Given the description of an element on the screen output the (x, y) to click on. 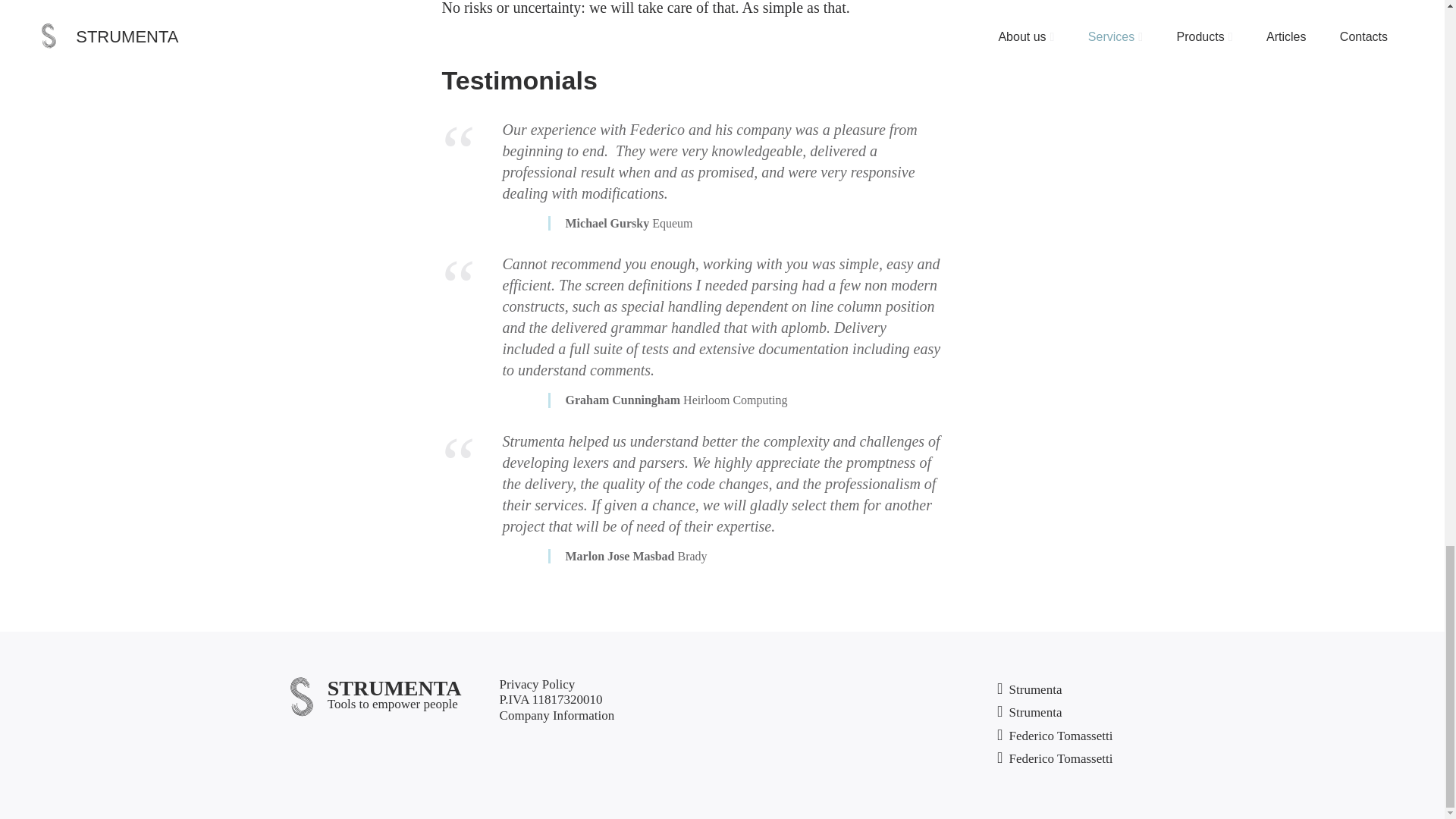
Federico Tomassetti (1054, 759)
Strumenta (1029, 712)
Company Information (556, 715)
Federico Tomassetti (1054, 736)
Privacy Policy (537, 684)
Strumenta (1029, 690)
